Given the description of an element on the screen output the (x, y) to click on. 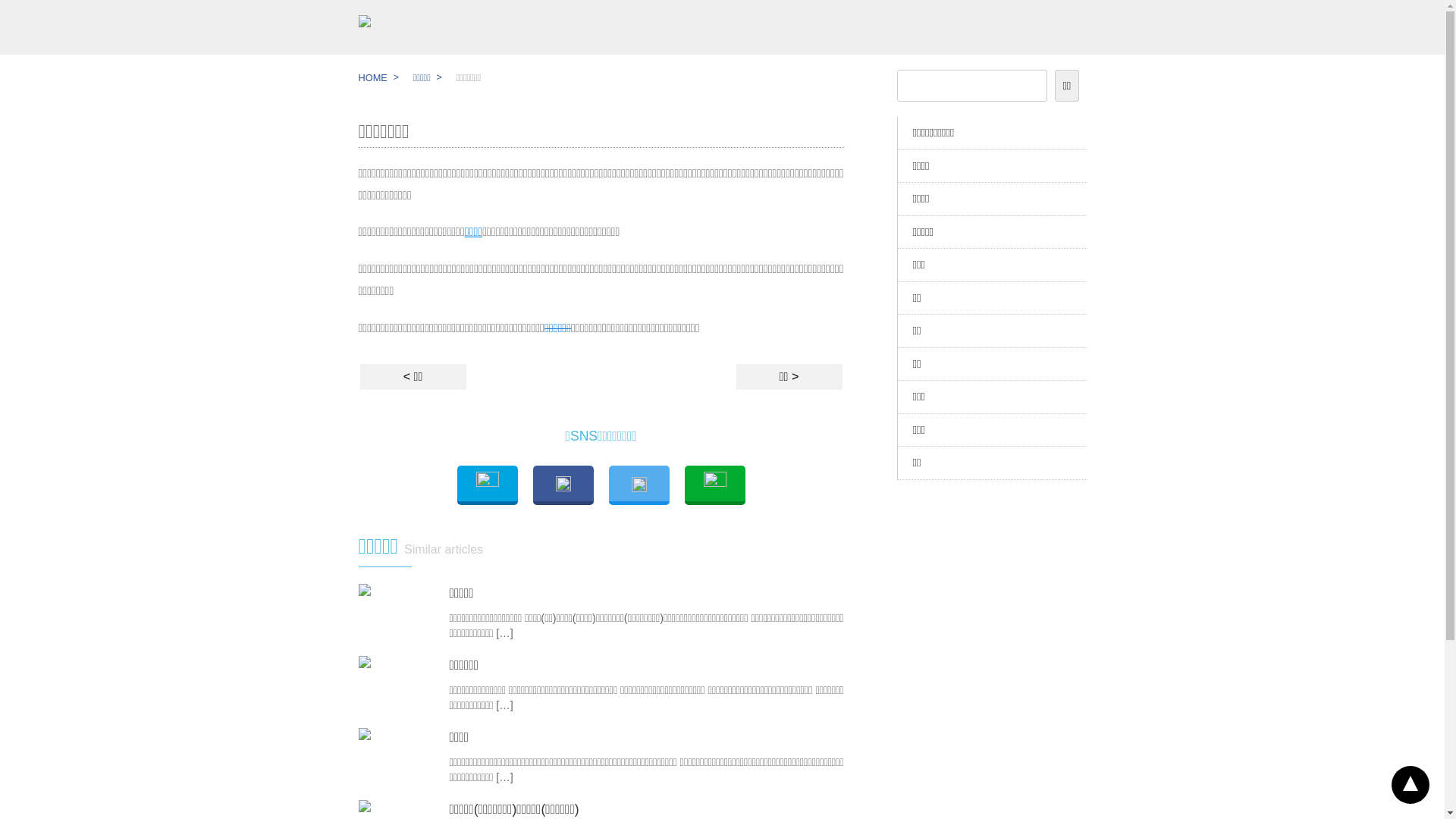
HOME Element type: text (371, 77)
no image Element type: hover (363, 734)
no image Element type: hover (363, 661)
no image Element type: hover (363, 806)
no image Element type: hover (363, 589)
